Given the description of an element on the screen output the (x, y) to click on. 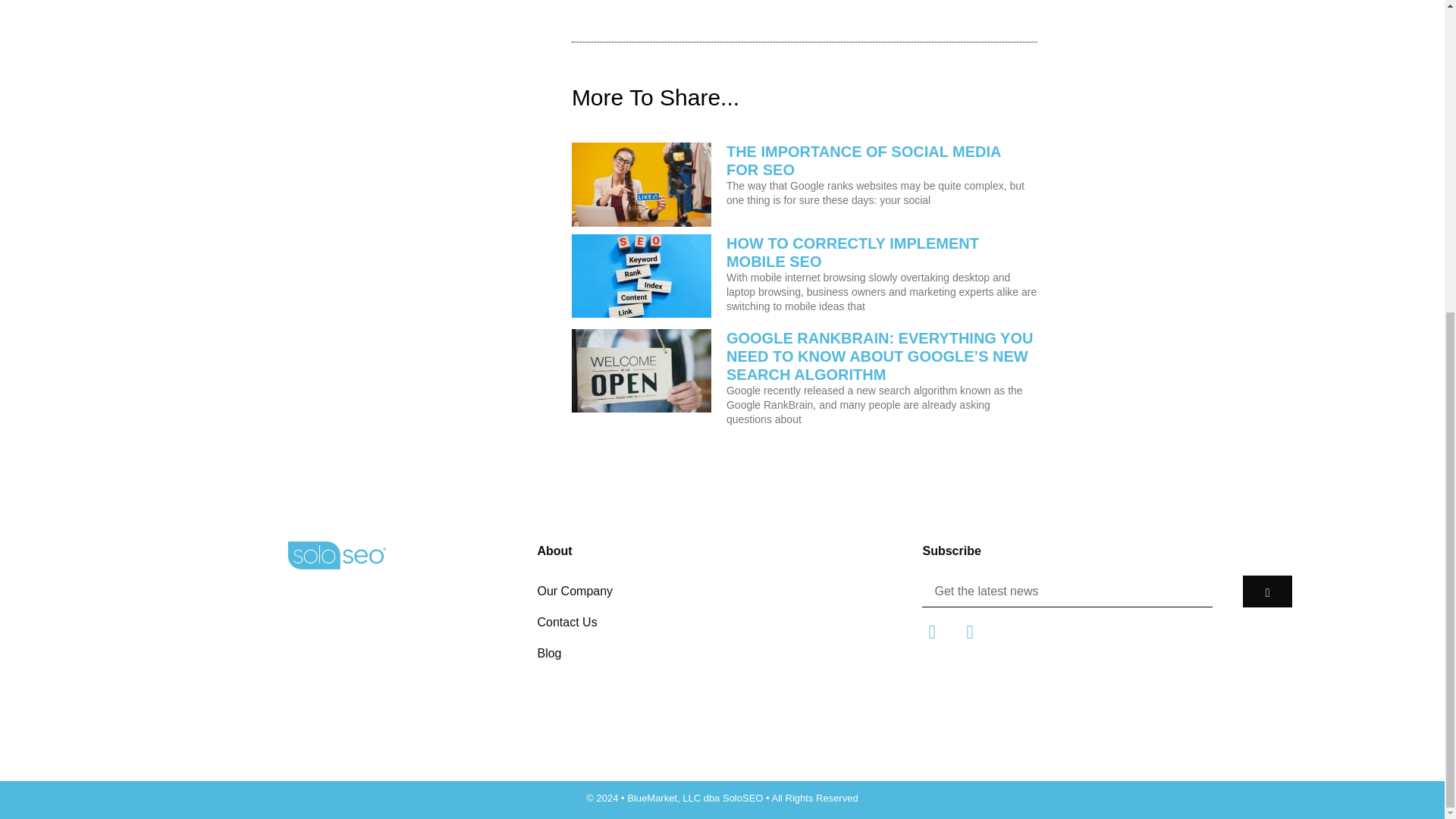
THE IMPORTANCE OF SOCIAL MEDIA FOR SEO (863, 160)
Blog (722, 653)
Contact Us (722, 622)
HOW TO CORRECTLY IMPLEMENT MOBILE SEO (852, 252)
Our Company (722, 590)
